Given the description of an element on the screen output the (x, y) to click on. 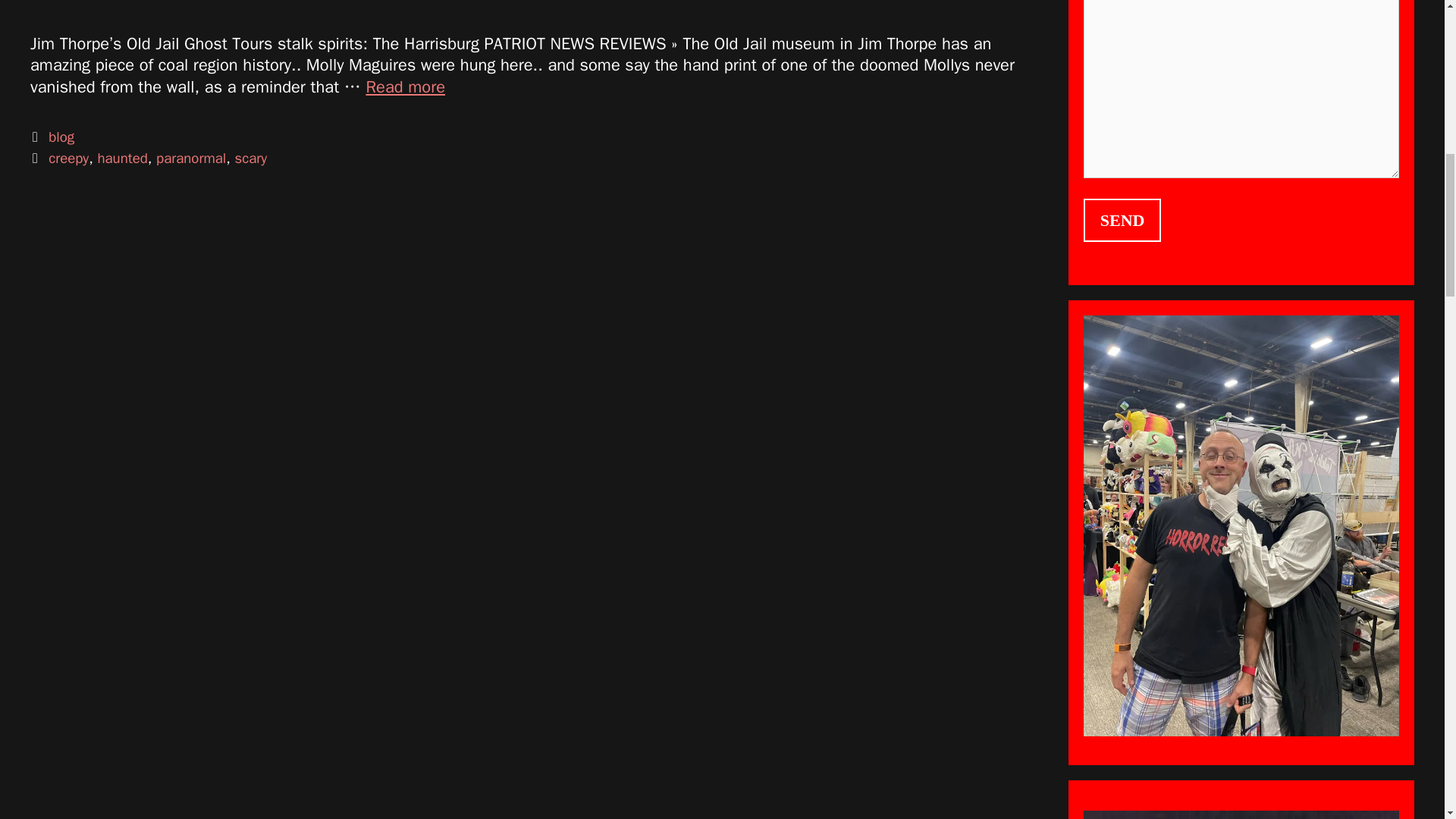
Send (1122, 220)
